Given the description of an element on the screen output the (x, y) to click on. 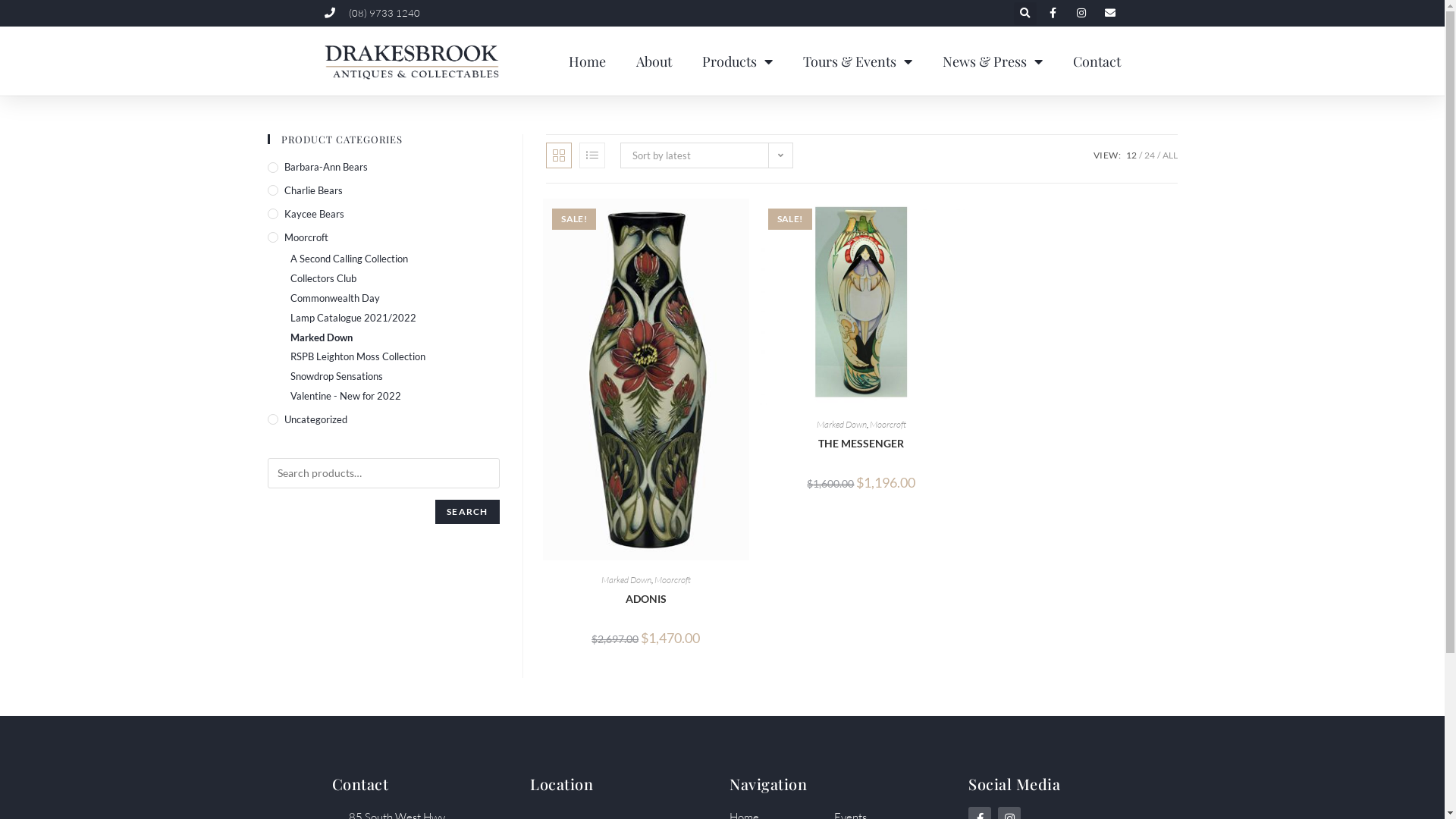
Lamp Catalogue 2021/2022 Element type: text (393, 318)
Charlie Bears Element type: text (382, 190)
Kaycee Bears Element type: text (382, 214)
RSPB Leighton Moss Collection Element type: text (393, 356)
Marked Down Element type: text (393, 337)
24 Element type: text (1148, 154)
Moorcroft Element type: text (382, 237)
Marked Down Element type: text (841, 423)
(08) 9733 1240 Element type: text (372, 12)
Products Element type: text (737, 60)
Valentine - New for 2022 Element type: text (393, 396)
Home Element type: text (586, 60)
Grid view Element type: hover (558, 155)
About Element type: text (653, 60)
12 Element type: text (1130, 154)
List view Element type: hover (592, 155)
ADONIS Element type: text (645, 598)
Snowdrop Sensations Element type: text (393, 376)
ALL Element type: text (1168, 154)
Commonwealth Day Element type: text (393, 298)
Moorcroft Element type: text (887, 423)
News & Press Element type: text (991, 60)
THE MESSENGER Element type: text (860, 443)
Barbara-Ann Bears Element type: text (382, 167)
Moorcroft Element type: text (672, 579)
Contact Element type: text (1096, 60)
A Second Calling Collection Element type: text (393, 258)
SEARCH Element type: text (466, 511)
Marked Down Element type: text (626, 579)
Collectors Club Element type: text (393, 278)
Tours & Events Element type: text (856, 60)
Uncategorized Element type: text (382, 419)
